Given the description of an element on the screen output the (x, y) to click on. 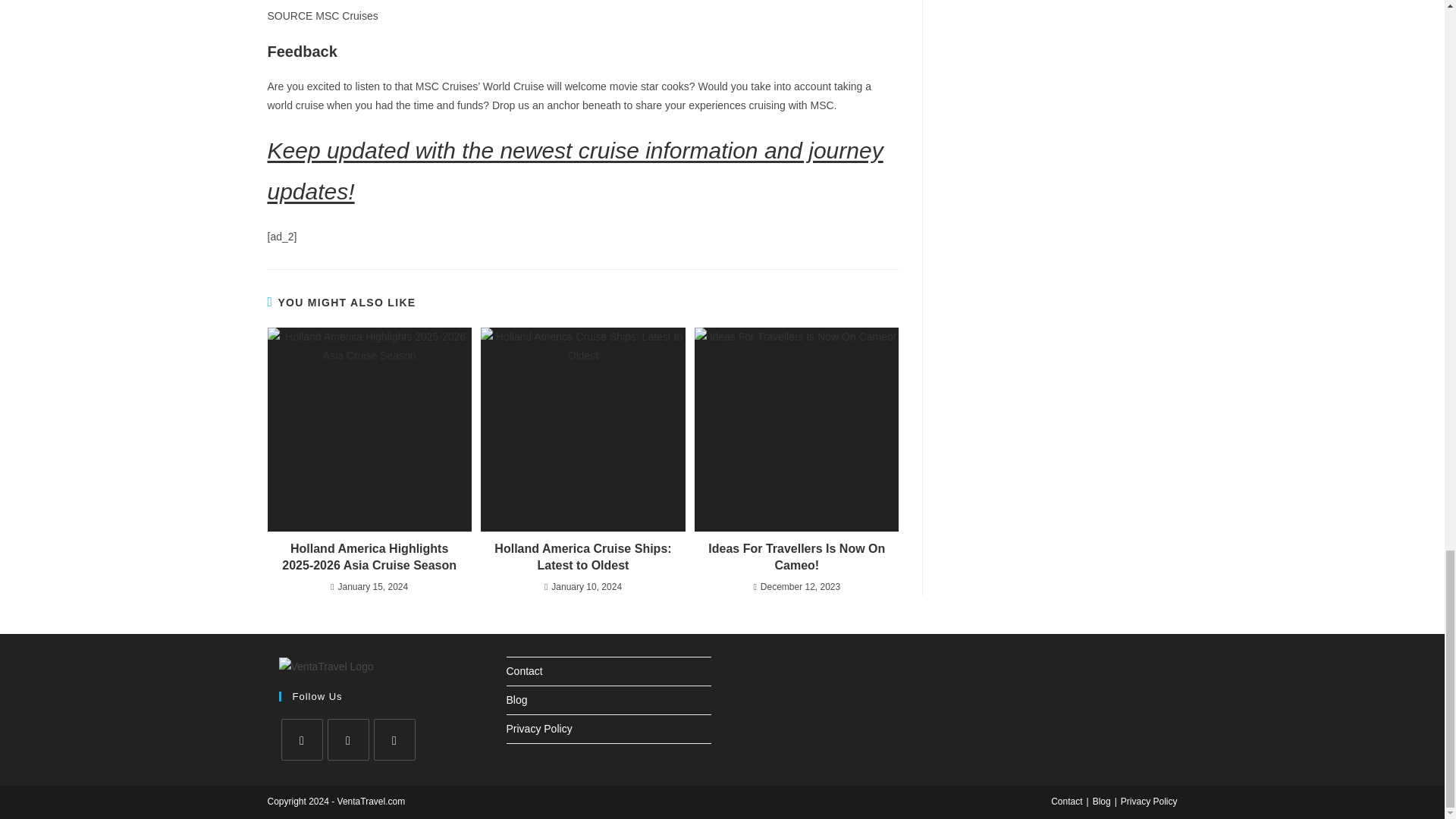
Holland America Cruise Ships: Latest to Oldest (582, 429)
Ideas For Travellers Is Now On Cameo! (796, 429)
Holland America Highlights 2025-2026 Asia Cruise Season (368, 429)
